Given the description of an element on the screen output the (x, y) to click on. 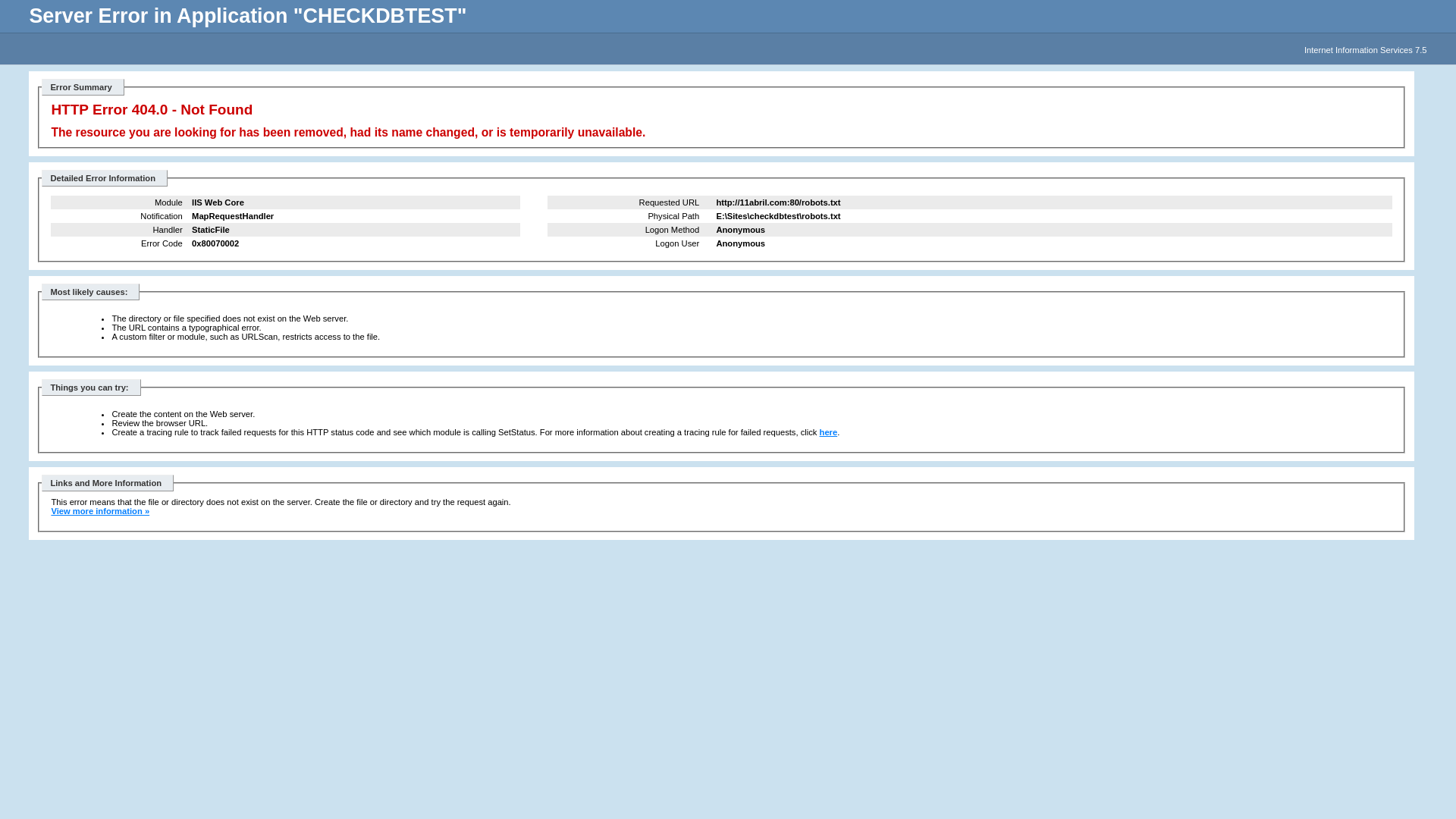
here Element type: text (828, 431)
